Given the description of an element on the screen output the (x, y) to click on. 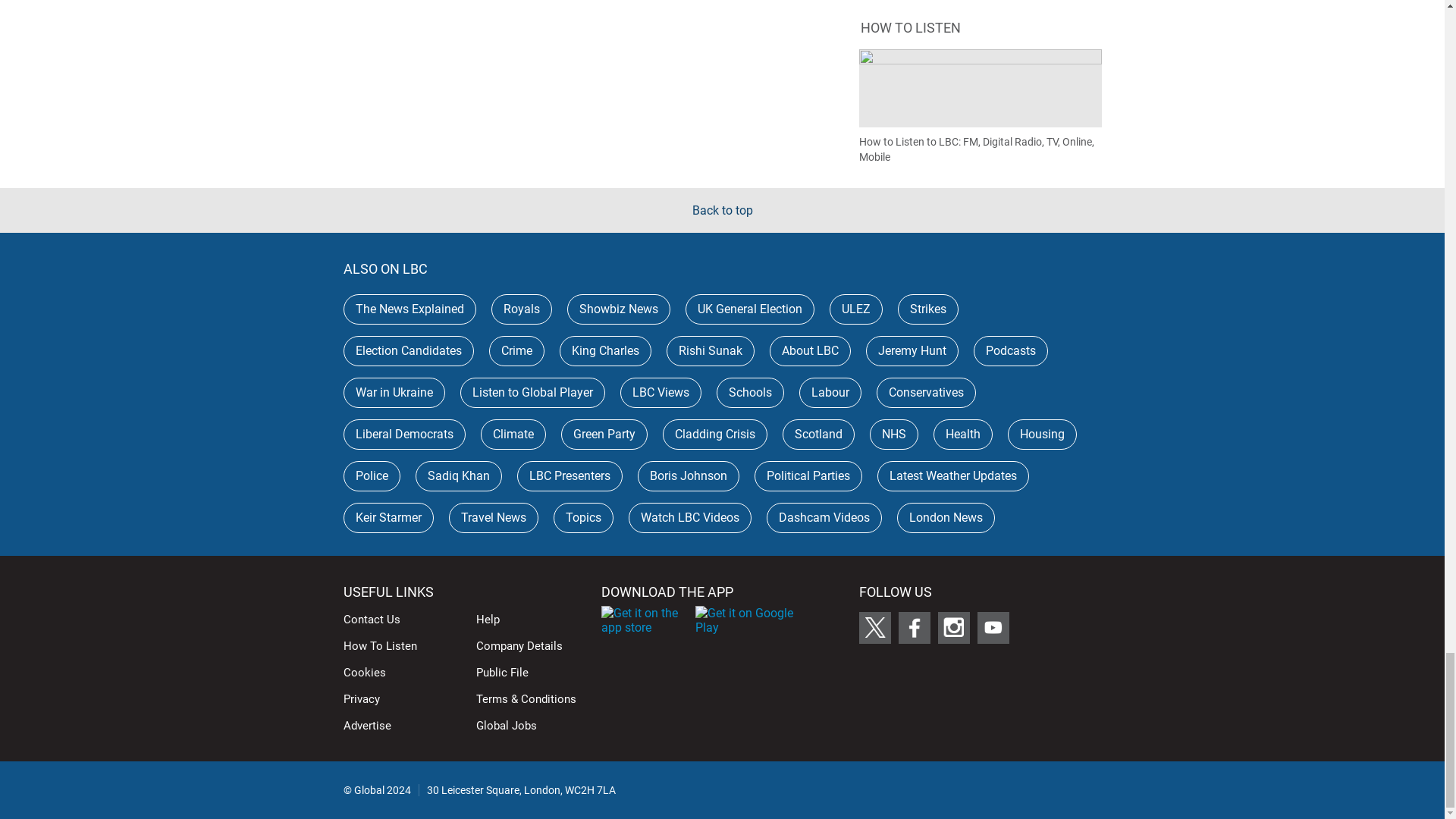
Follow LBC on X (874, 627)
Follow LBC on Facebook (914, 627)
Follow LBC on Youtube (992, 627)
Follow LBC on Instagram (953, 627)
Back to top (721, 210)
